Given the description of an element on the screen output the (x, y) to click on. 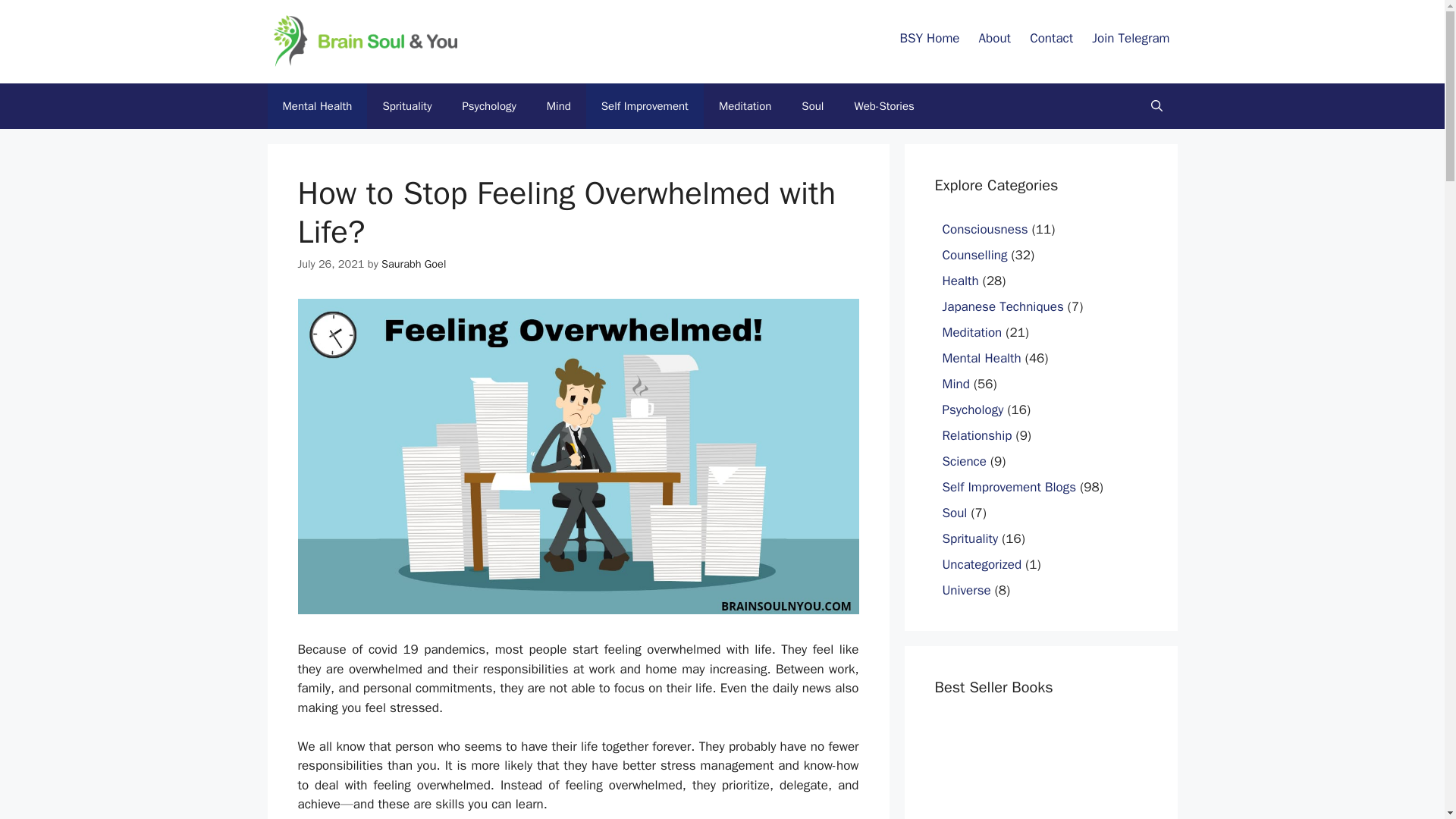
Soul (812, 105)
Mind (558, 105)
Sprituality (406, 105)
Contact (1051, 37)
About (994, 37)
Join Telegram (1130, 37)
View all posts by Saurabh Goel (413, 264)
Self Improvement (644, 105)
Web-Stories (883, 105)
Meditation (744, 105)
